Given the description of an element on the screen output the (x, y) to click on. 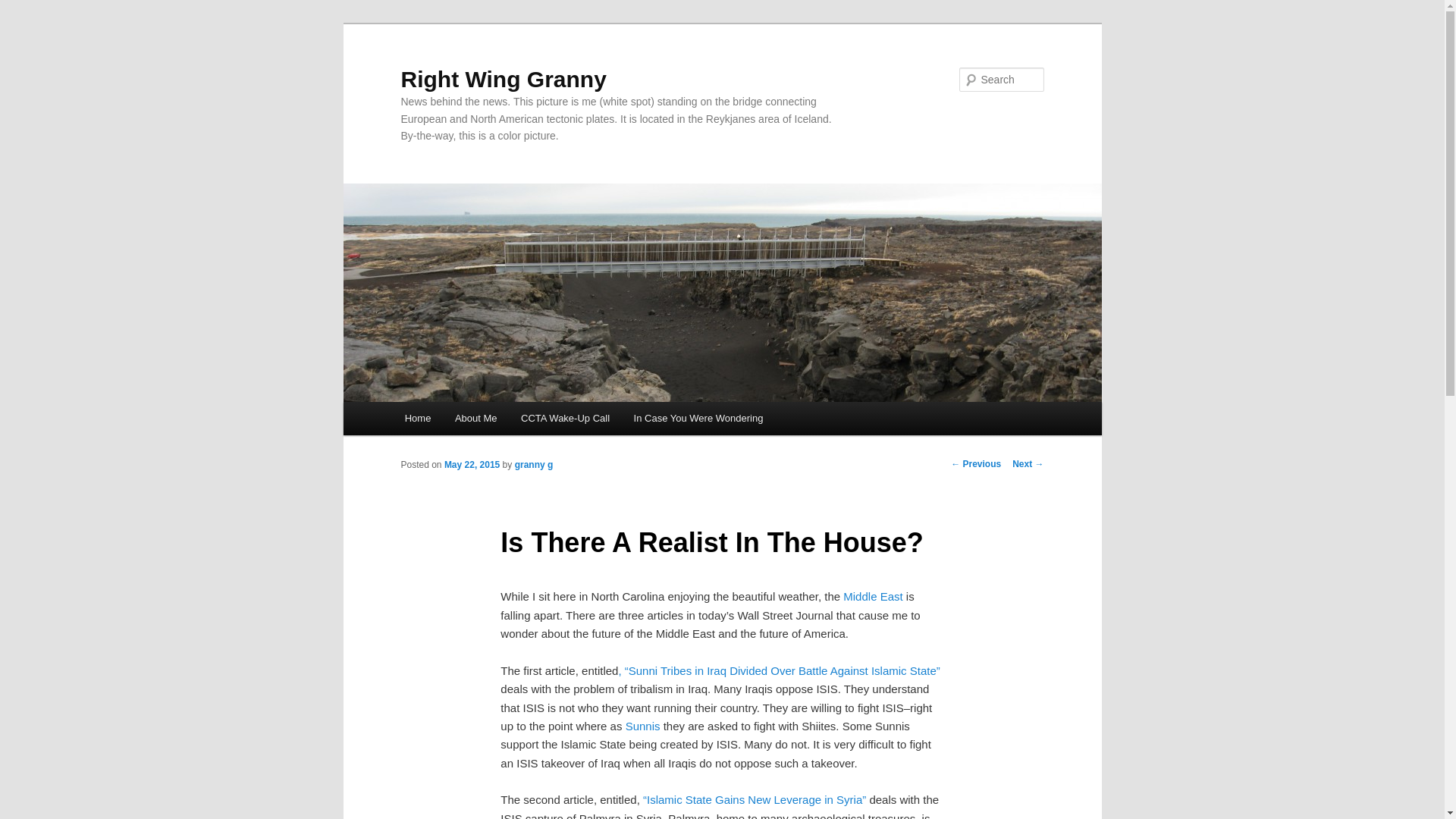
View all posts by granny g (534, 464)
granny g (534, 464)
About Me (475, 418)
Middle East (872, 595)
Middle East (872, 595)
In Case You Were Wondering (697, 418)
May 22, 2015 (471, 464)
CCTA Wake-Up Call (564, 418)
Sunnis (643, 725)
12:23 pm (471, 464)
Search (24, 8)
Home (417, 418)
Sunni Islam (643, 725)
Right Wing Granny (502, 78)
